Given the description of an element on the screen output the (x, y) to click on. 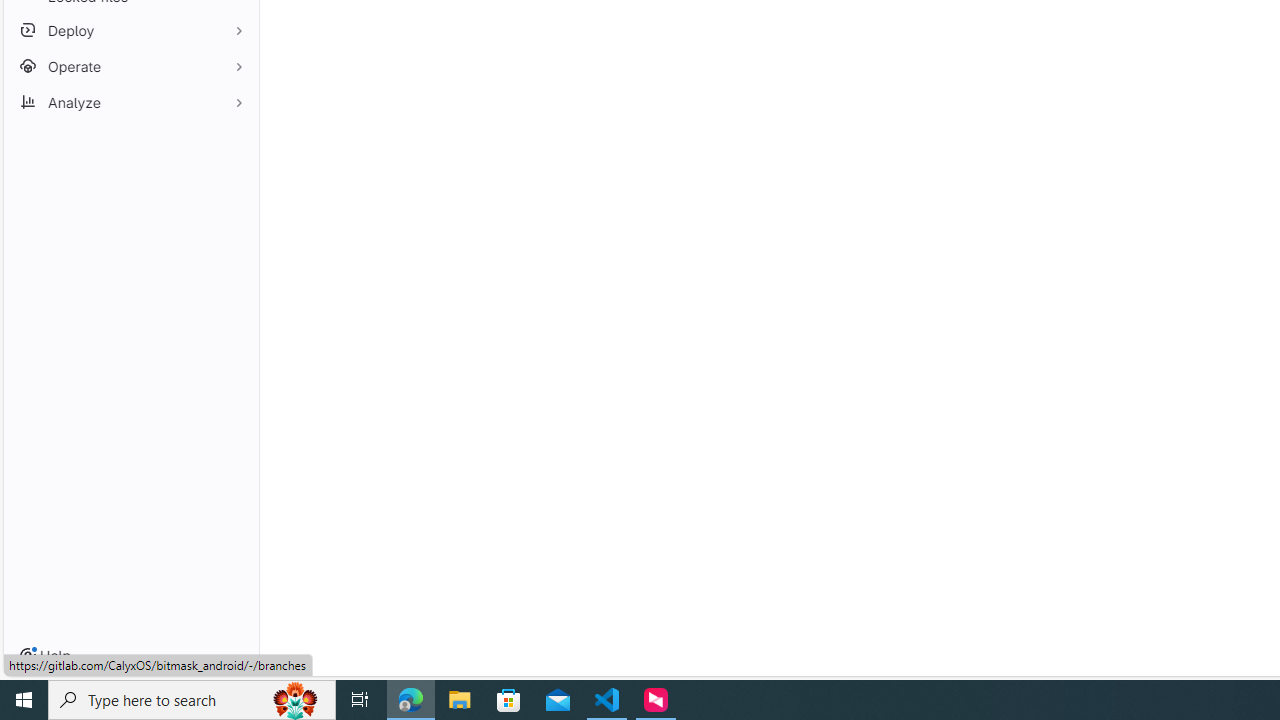
Analyze (130, 101)
Analyze (130, 101)
Help (45, 655)
Deploy (130, 29)
Deploy (130, 29)
Operate (130, 65)
Operate (130, 65)
